Given the description of an element on the screen output the (x, y) to click on. 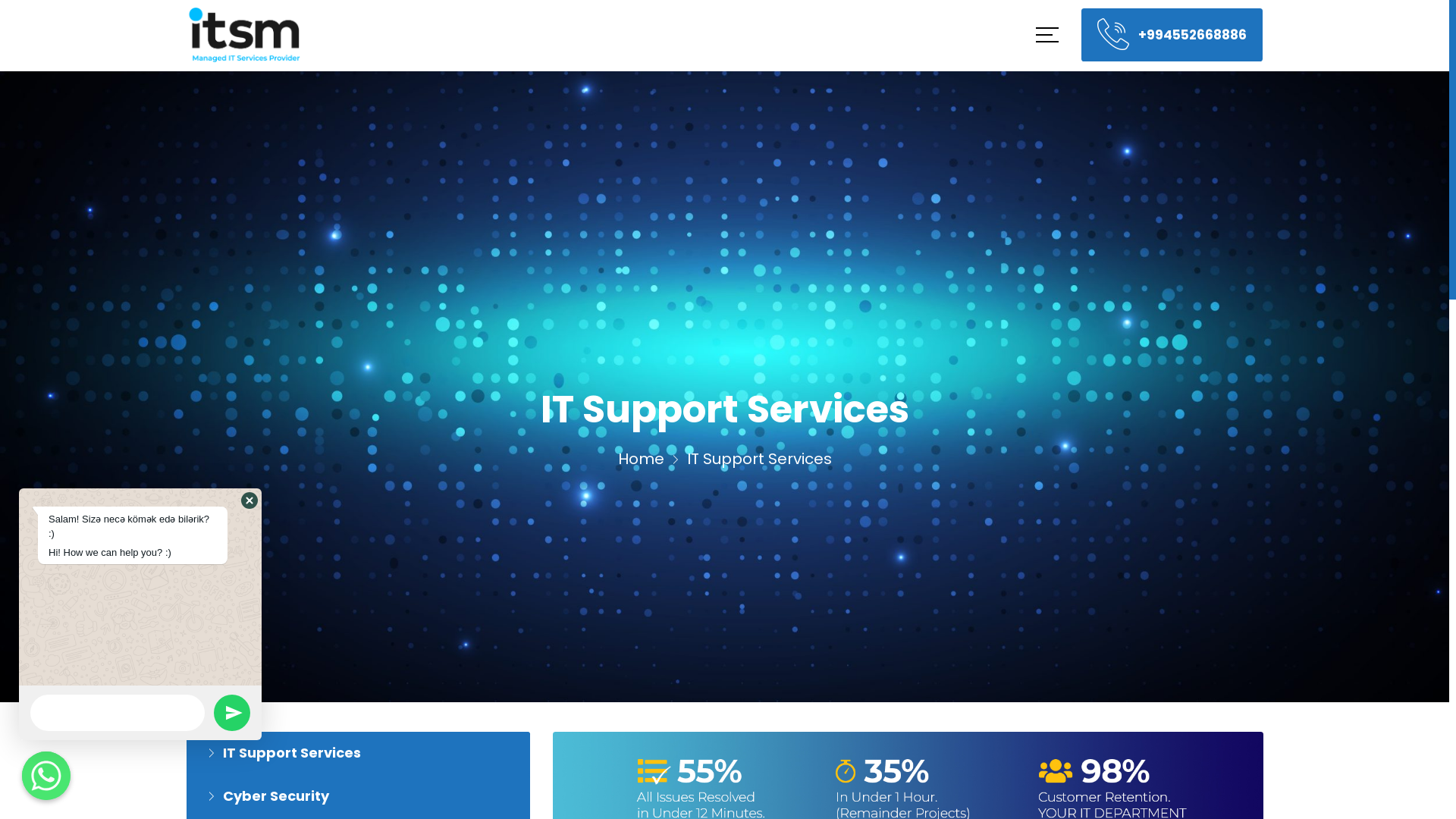
undefined Element type: text (231, 712)
IT Support Services Element type: text (358, 752)
Cyber Security Element type: text (358, 795)
IT Support Services Element type: text (280, 752)
Cyber Security Element type: text (264, 795)
Home Element type: text (640, 460)
